Given the description of an element on the screen output the (x, y) to click on. 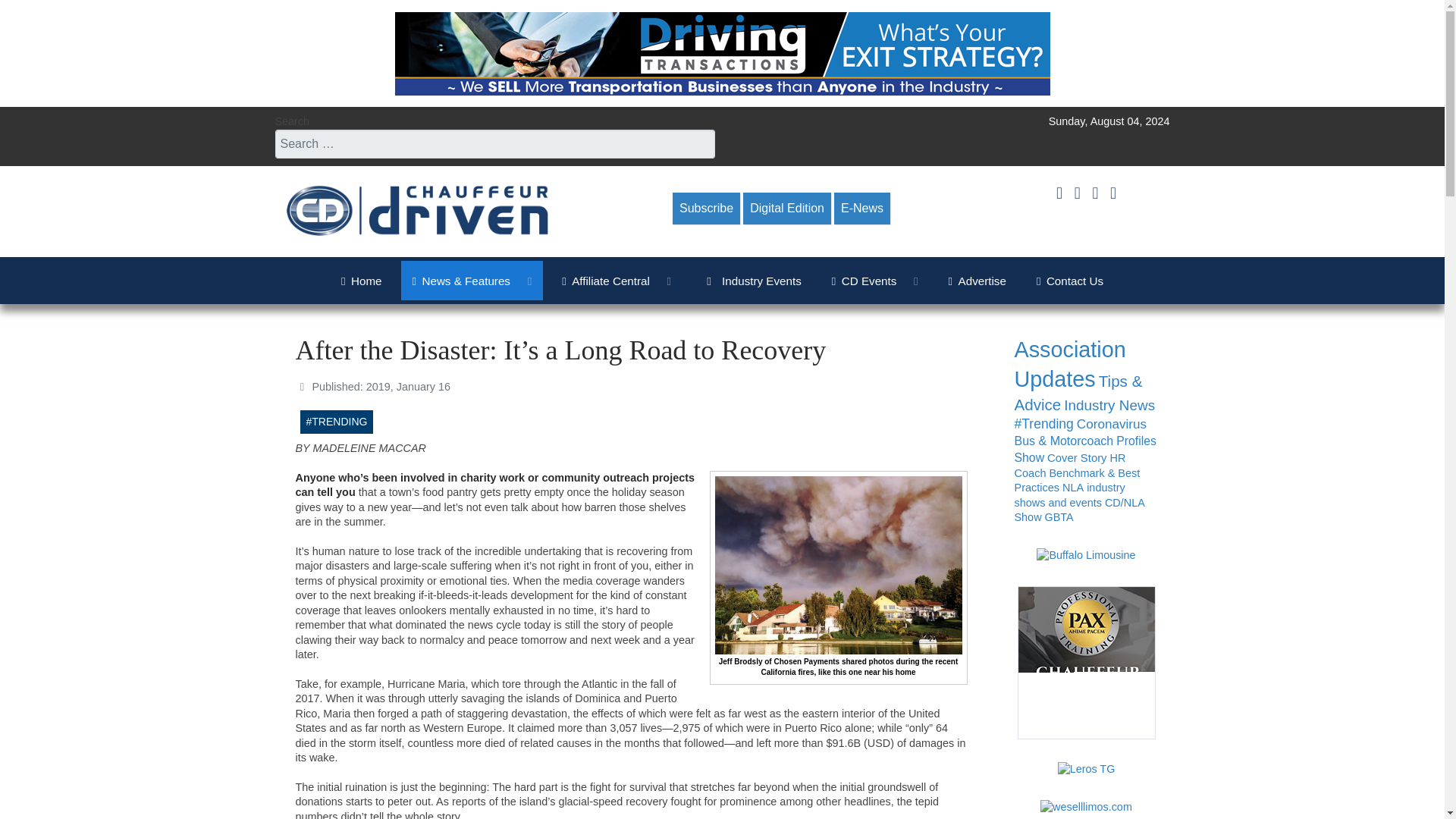
Subscribe (705, 208)
Chauffeur Driven (417, 210)
Digital Edition (786, 208)
Industry Events (751, 281)
Contact Us (1070, 281)
E-News (861, 208)
Advertise (977, 281)
Home (361, 281)
Affiliate Central (616, 281)
